Given the description of an element on the screen output the (x, y) to click on. 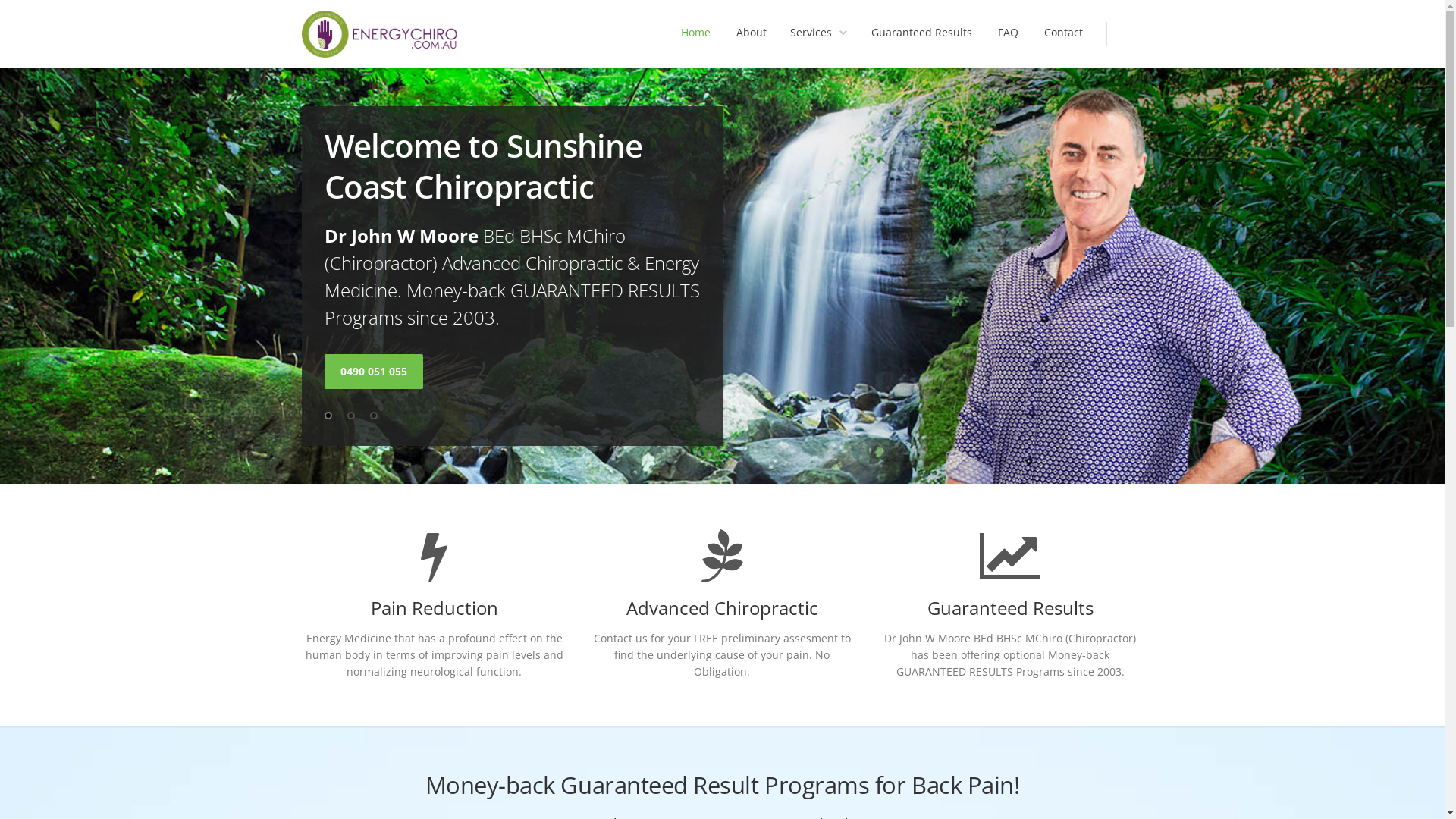
FAQ Element type: text (1007, 34)
Search Element type: text (1123, 33)
Contact Element type: text (1062, 34)
0490 051 055 Element type: text (373, 371)
Services Element type: text (818, 34)
About Element type: text (750, 34)
Home Element type: text (695, 34)
Guaranteed Results Element type: text (920, 34)
